Given the description of an element on the screen output the (x, y) to click on. 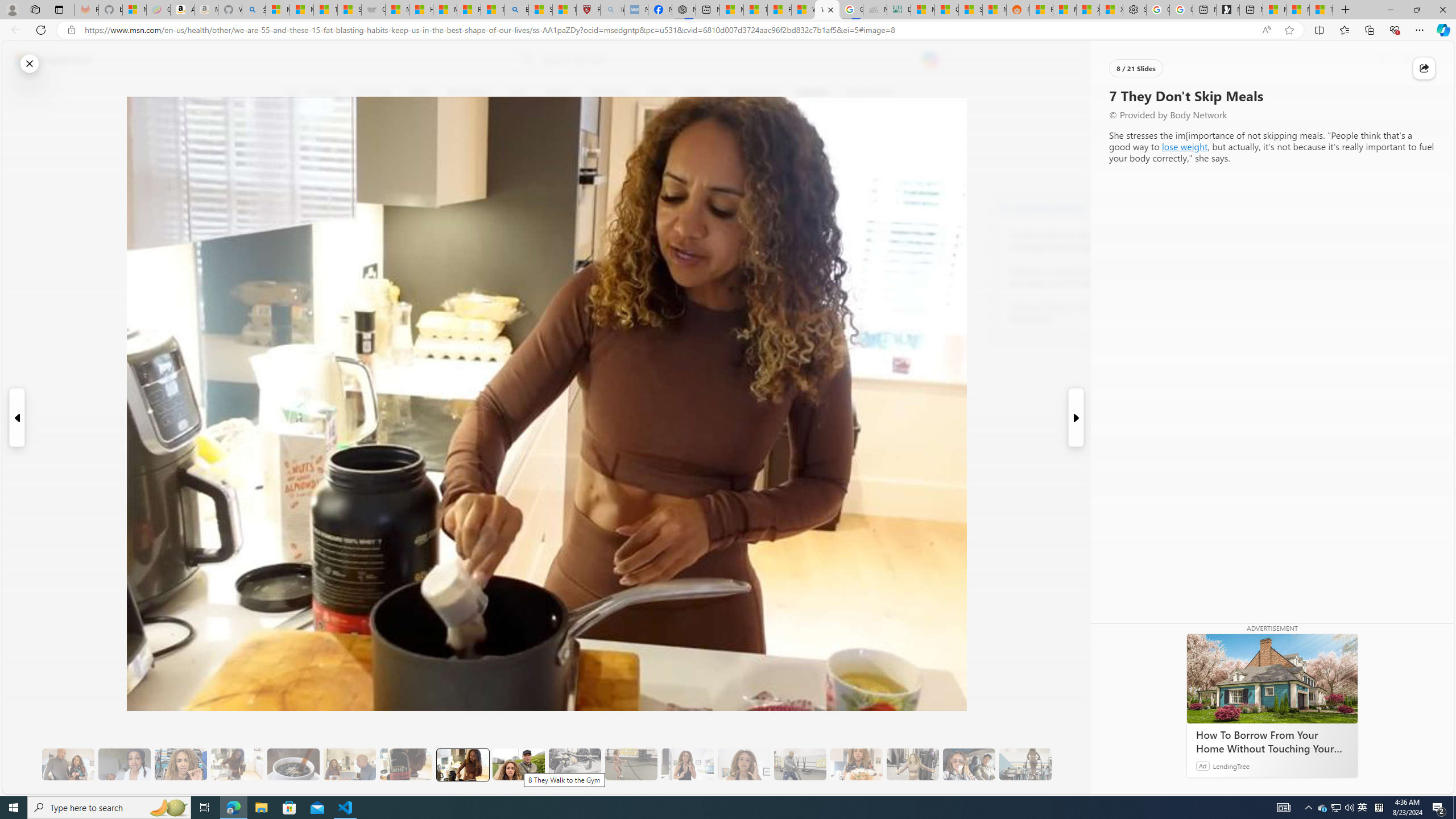
15 They Also Indulge in a Low-Calorie Sweet Treat (912, 764)
Following (373, 92)
Follow (518, 146)
Microsoft Start Gaming (1227, 9)
Microsoft rewards (1382, 60)
Crime (657, 92)
World News (468, 92)
Discover (327, 92)
Technology (608, 92)
Lifestyle (812, 92)
